Given the description of an element on the screen output the (x, y) to click on. 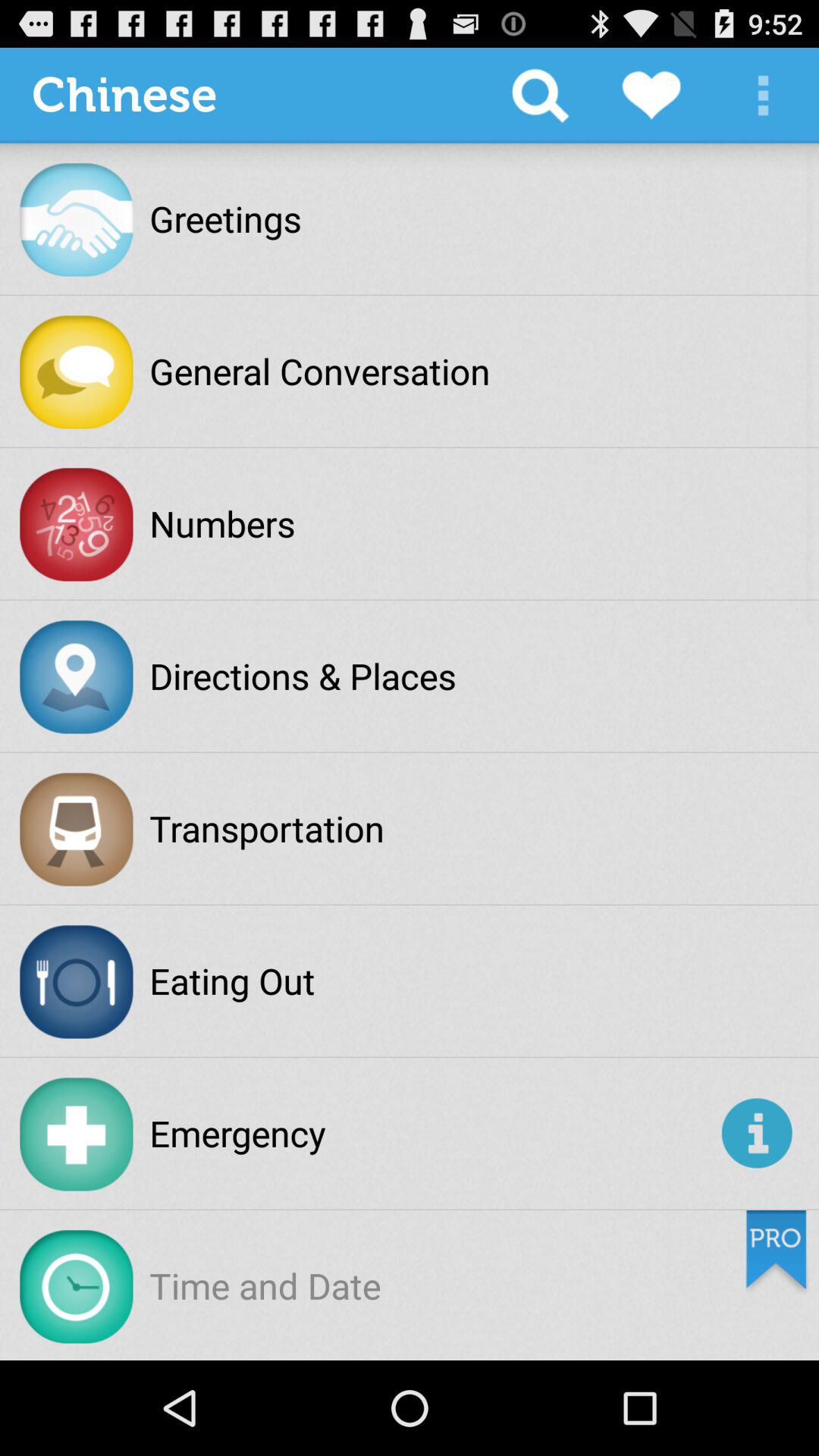
select app to the right of chinese (540, 95)
